Given the description of an element on the screen output the (x, y) to click on. 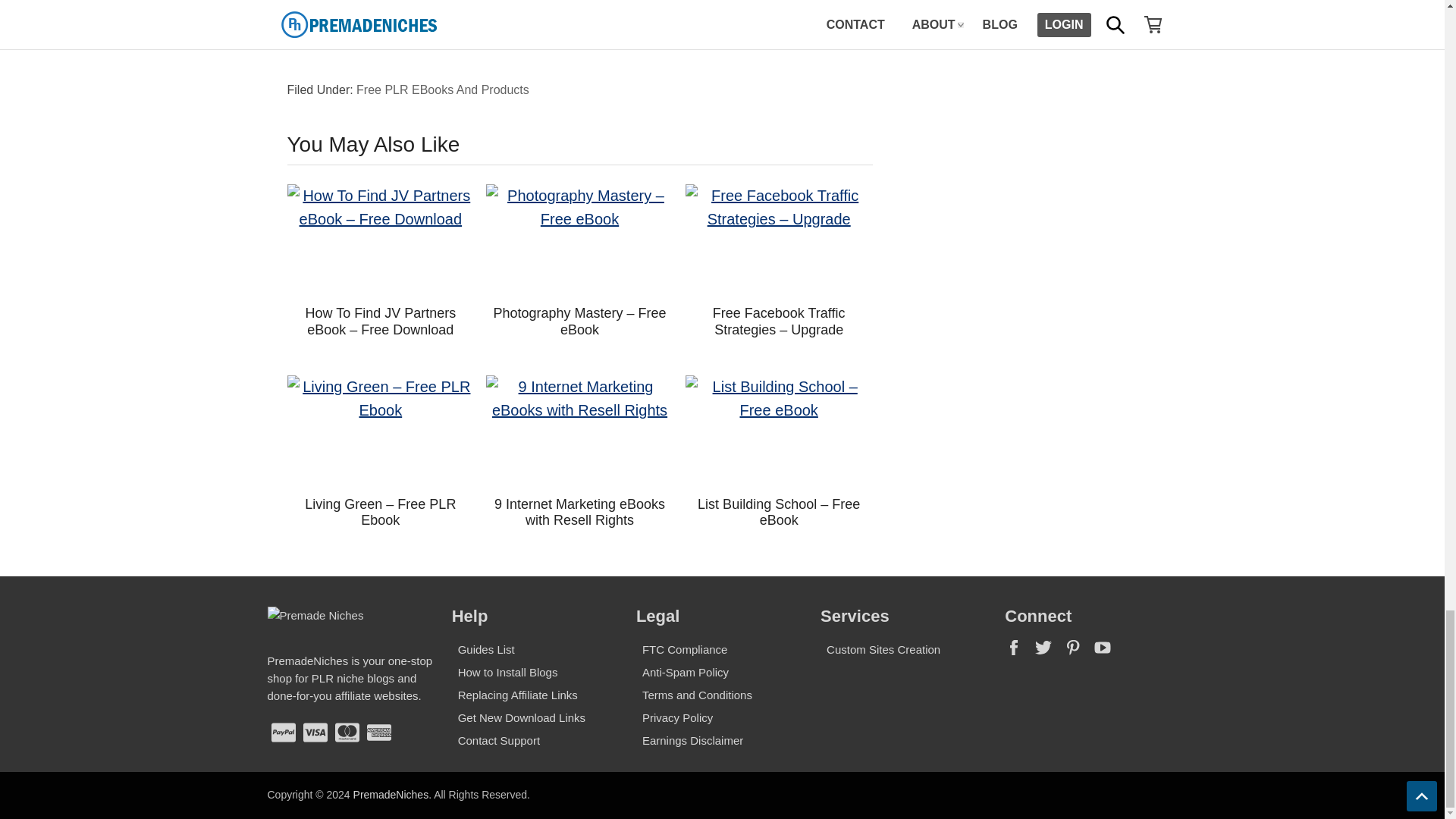
Follow us on Pinterest (1078, 652)
Follow us on Facebook (1018, 652)
9 Internet Marketing eBooks with Resell Rights (579, 431)
Follow us on Twitter (1048, 652)
